Given the description of an element on the screen output the (x, y) to click on. 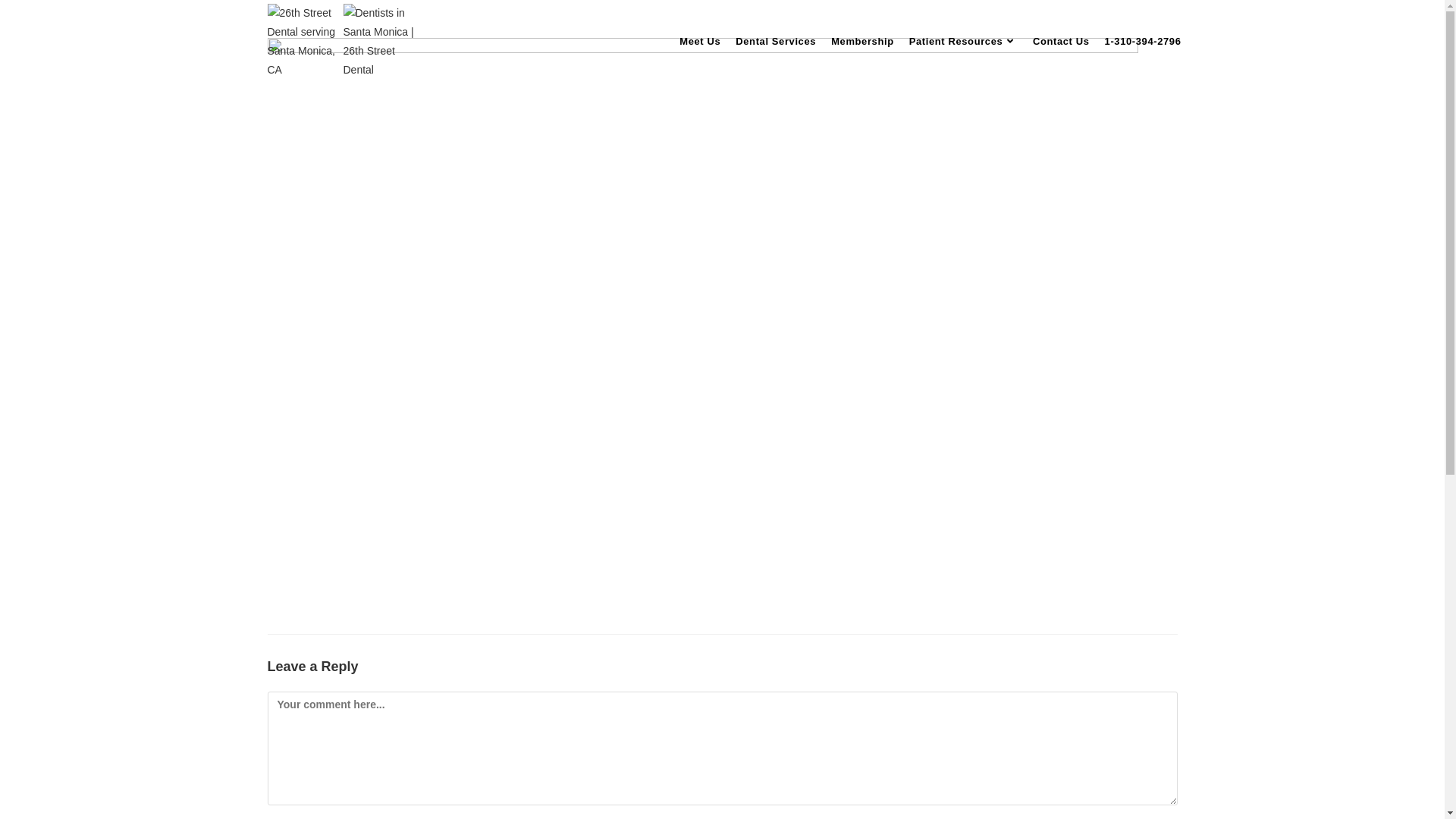
1-310-394-2796 Element type: text (1143, 41)
Contact Us Element type: text (1061, 41)
Dental Services Element type: text (775, 41)
Membership Element type: text (862, 41)
Patient Resources Element type: text (963, 41)
Meet Us Element type: text (699, 41)
